Given the description of an element on the screen output the (x, y) to click on. 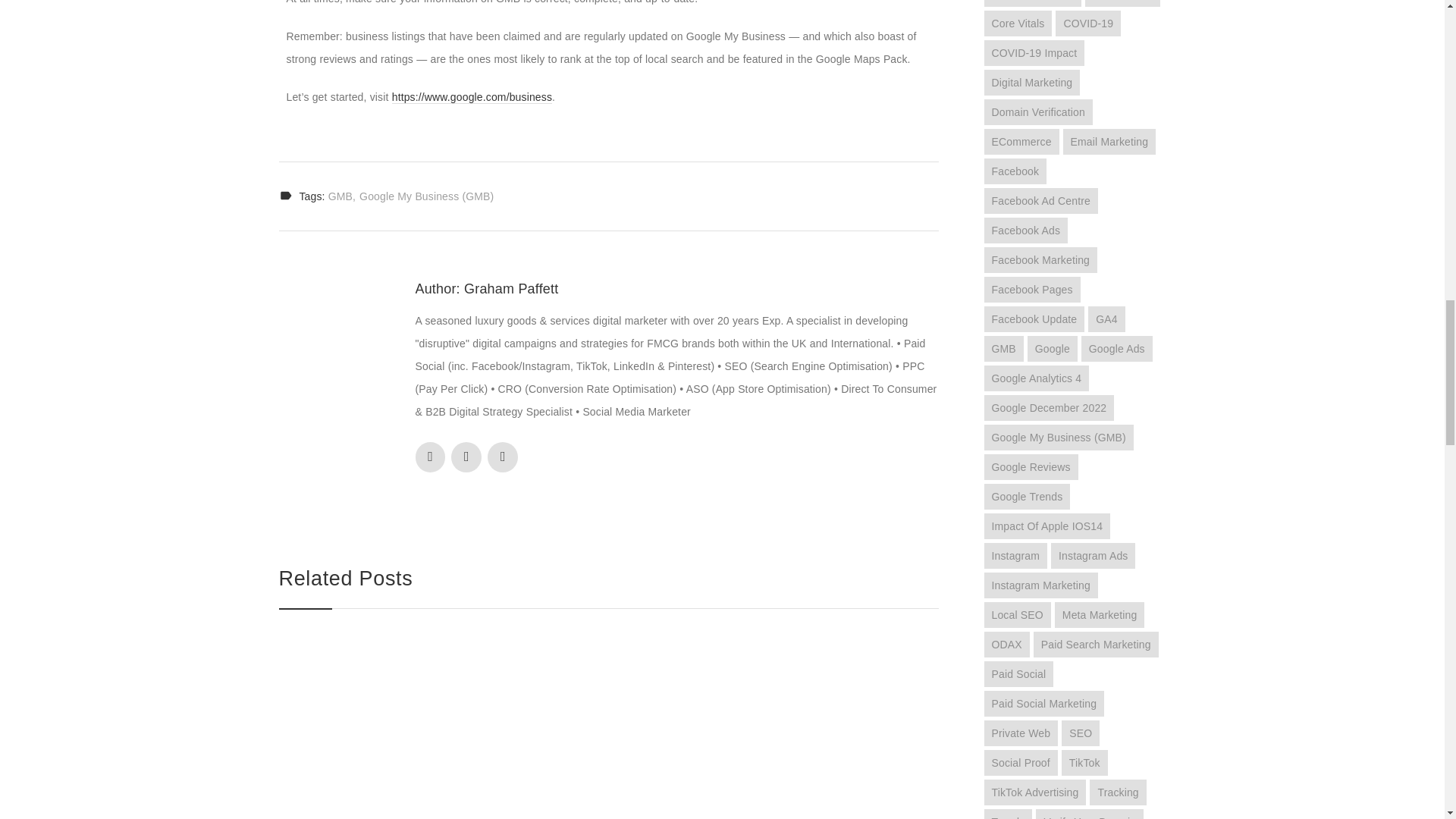
Visit the linkedin Profile for Graham Paffett (502, 457)
GMB (342, 195)
Visit the Facebook Profile for Graham Paffett (429, 457)
Graham Paffett (510, 288)
Visit the instagram Profile for Graham Paffett (466, 457)
